Given the description of an element on the screen output the (x, y) to click on. 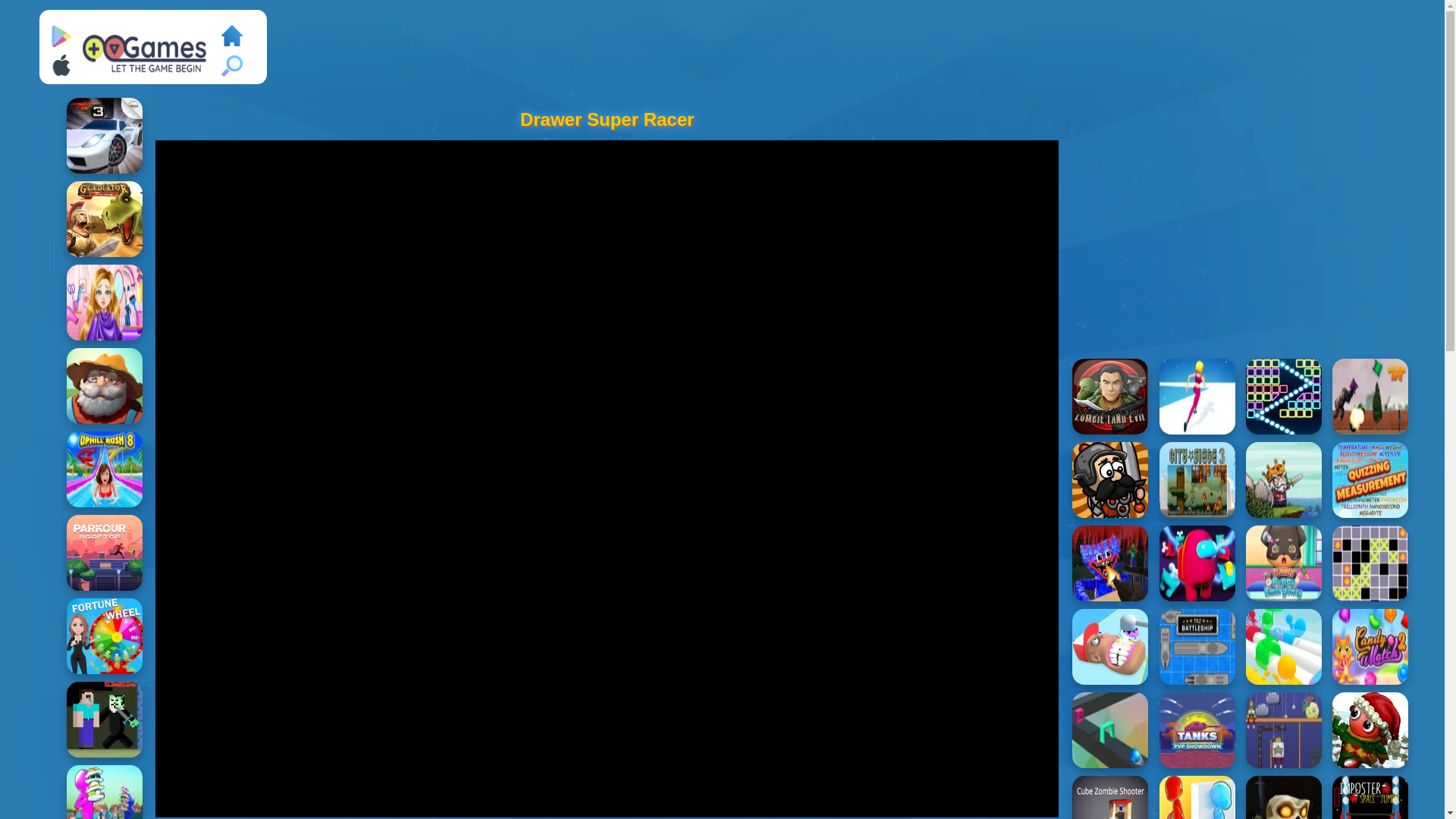
AllofGames (145, 51)
Advertisement (1240, 236)
Search (232, 65)
